Given the description of an element on the screen output the (x, y) to click on. 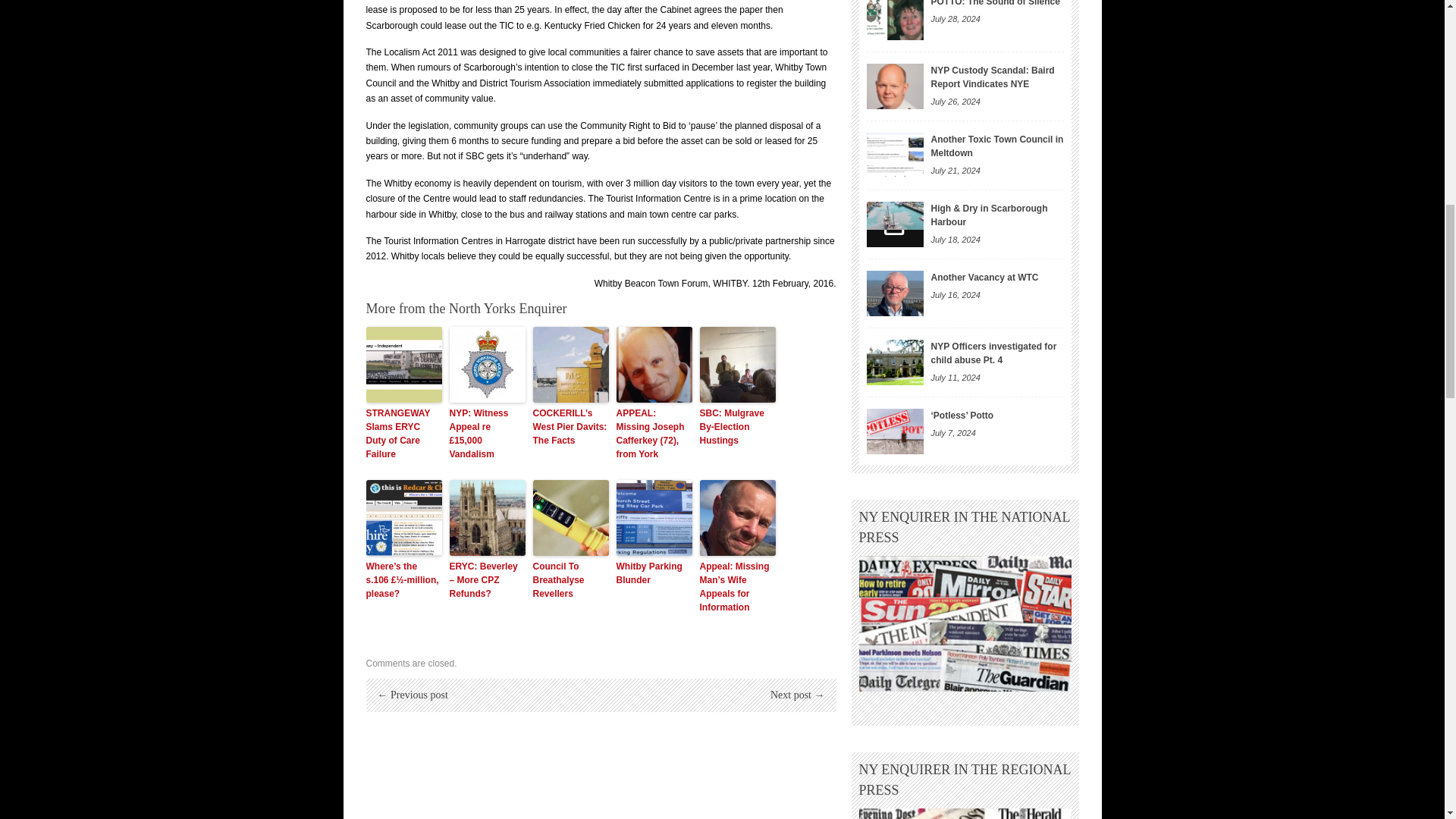
Another Toxic Town Council in Meltdown (894, 155)
Another Toxic Town Council in Meltdown (997, 146)
NYP Custody Scandal: Baird Report Vindicates NYE (894, 85)
POTTO: The Sound of Silence (995, 3)
NYP Custody Scandal: Baird Report Vindicates NYE (992, 77)
POTTO: The Sound of Silence (894, 20)
